Given the description of an element on the screen output the (x, y) to click on. 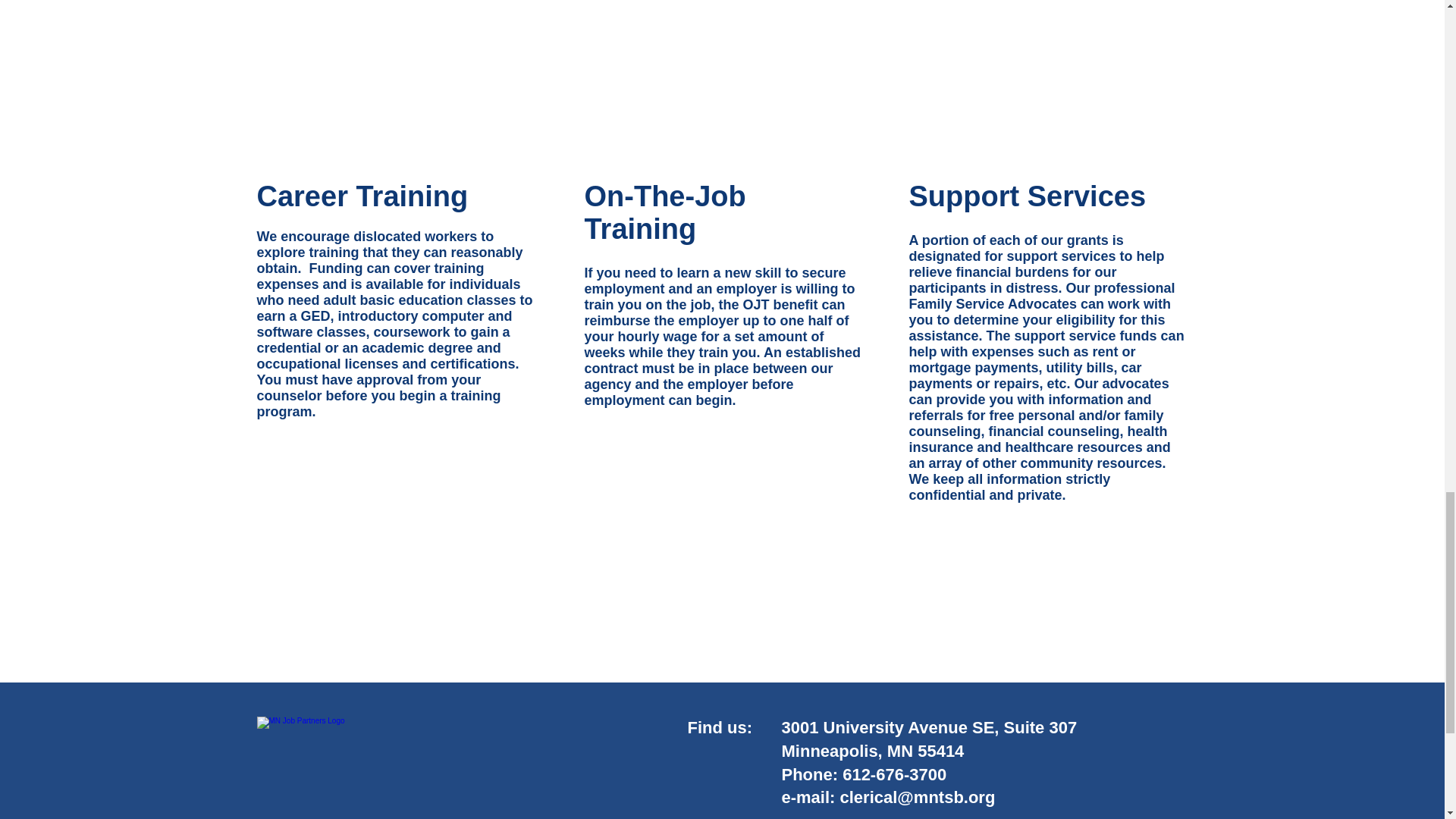
MN Job Partners Logo. Click to return to the homepage. (408, 751)
